Given the description of an element on the screen output the (x, y) to click on. 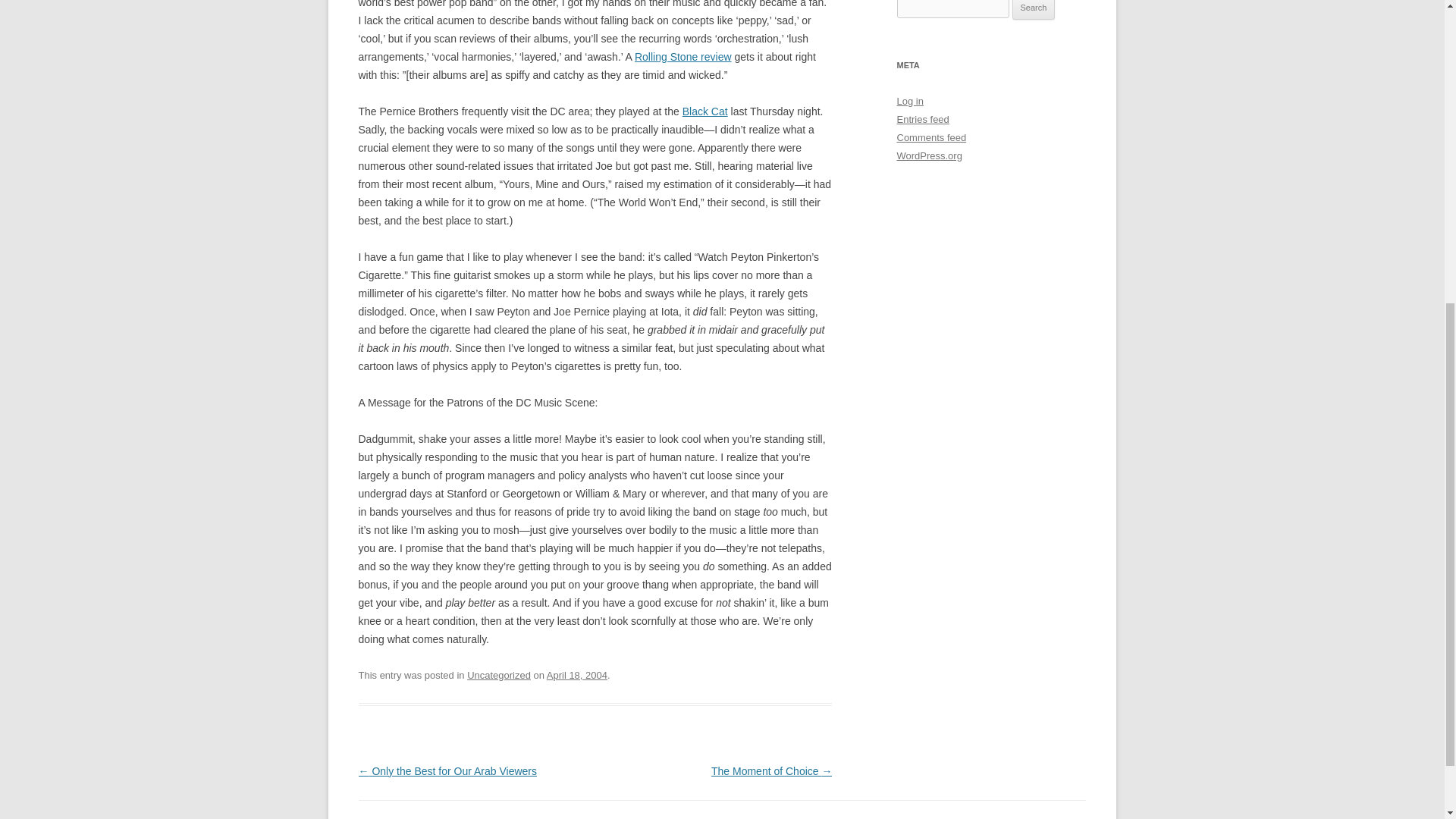
Black Cat (705, 111)
Entries feed (922, 119)
Uncategorized (499, 674)
Log in (909, 101)
WordPress.org (928, 155)
Search (1033, 9)
April 18, 2004 (577, 674)
Comments feed (931, 137)
Rolling Stone review (683, 56)
3:40 pm (577, 674)
Search (1033, 9)
